Given the description of an element on the screen output the (x, y) to click on. 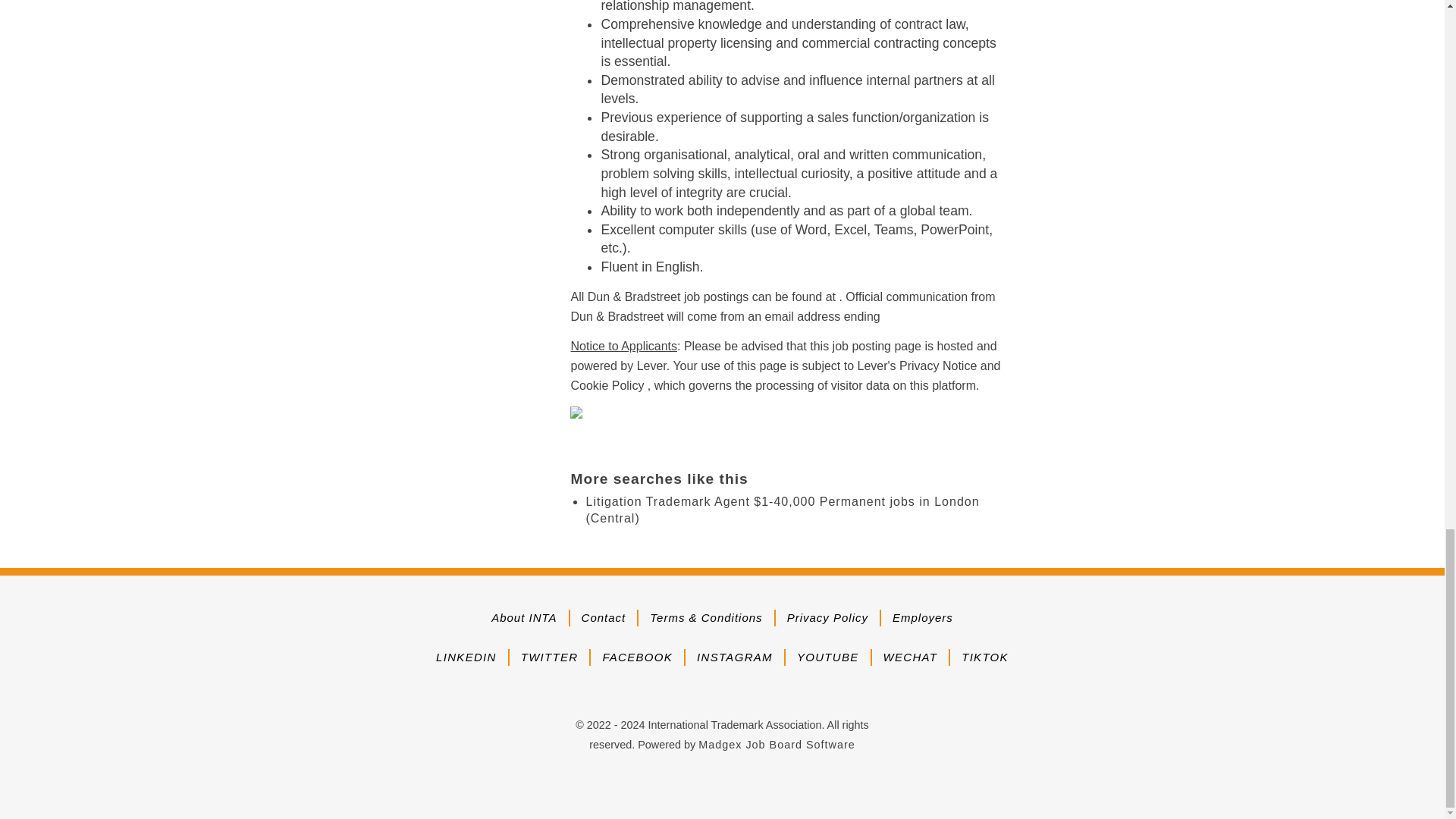
WECHAT (909, 657)
INSTAGRAM (735, 657)
FACEBOOK (637, 657)
TIKTOK (984, 657)
Madgex Job Board Software (777, 744)
YOUTUBE (827, 657)
Employers (922, 617)
Contact (603, 617)
About INTA (524, 617)
Privacy Policy (827, 617)
LINKEDIN (465, 657)
TWITTER (549, 657)
